Given the description of an element on the screen output the (x, y) to click on. 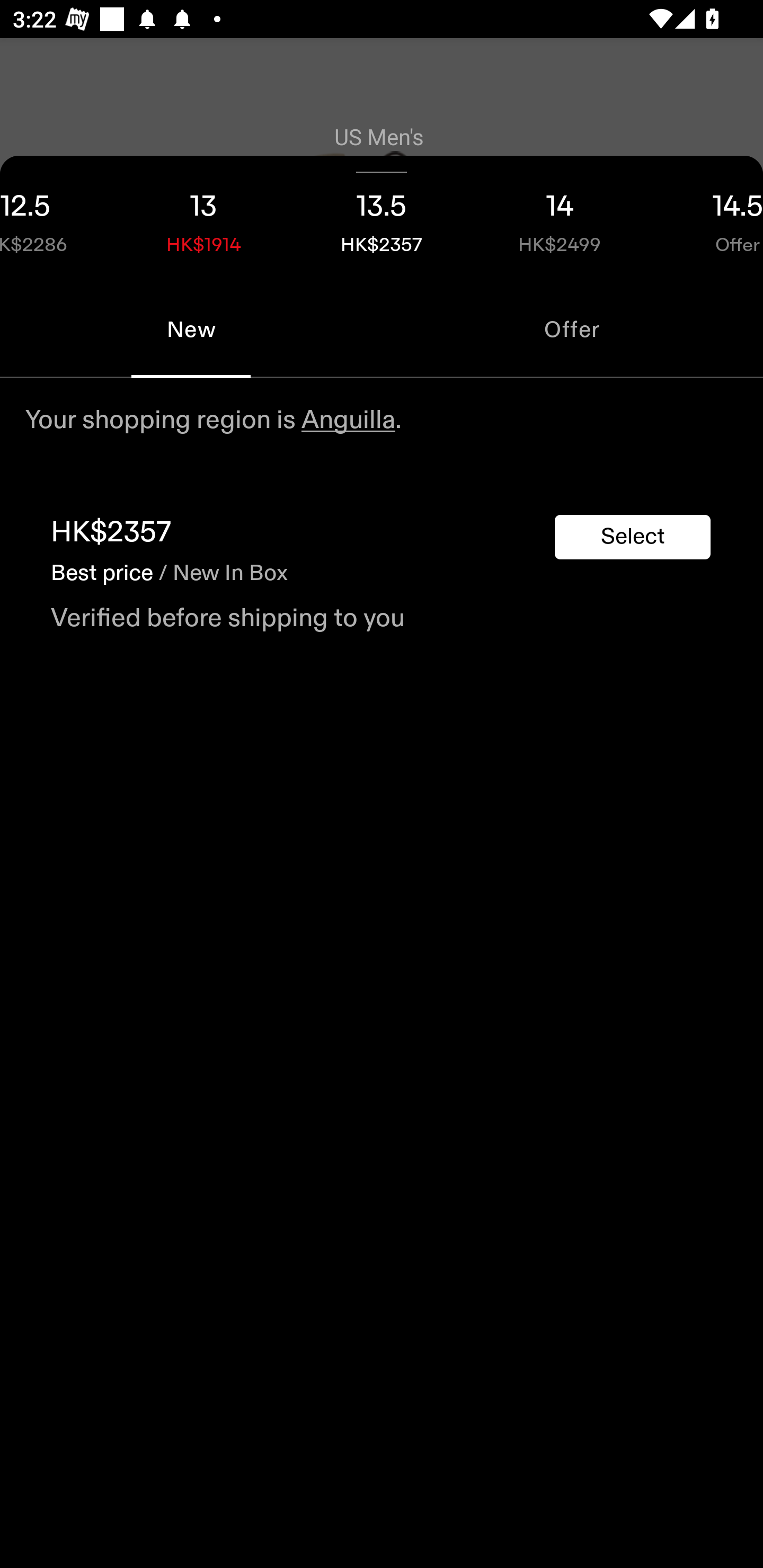
12.5 HK$2286 (57, 218)
13 HK$1914 (203, 218)
13.5 HK$2357 (381, 218)
14 HK$2499 (559, 218)
14.5 Offer (705, 218)
Offer (572, 329)
Select (632, 536)
